Given the description of an element on the screen output the (x, y) to click on. 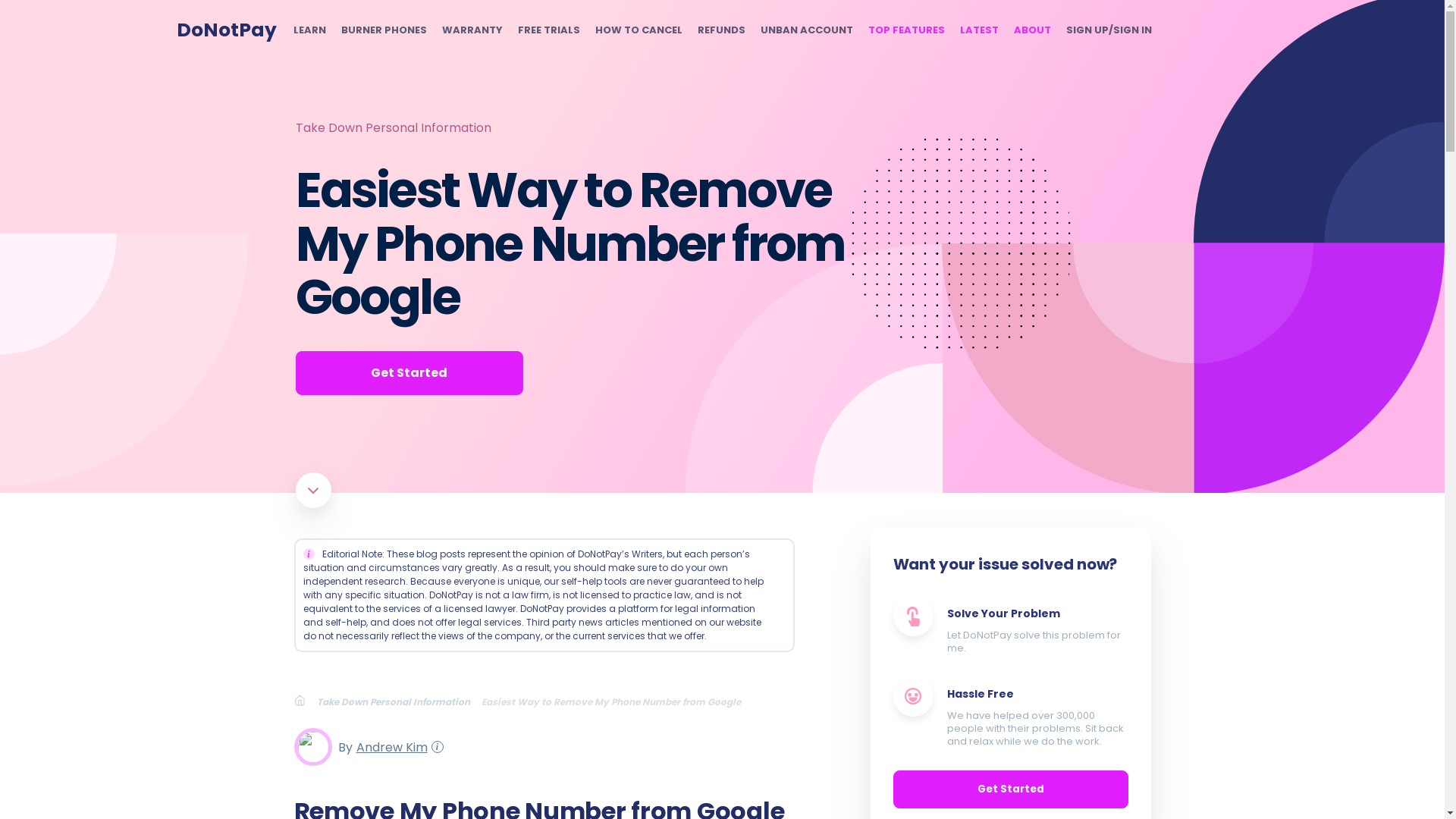
TOP FEATURES (905, 29)
ABOUT (1031, 29)
FREE TRIALS (547, 29)
HOW TO CANCEL (637, 29)
Take Down Personal Information (393, 127)
BURNER PHONES (383, 29)
UNBAN ACCOUNT (805, 29)
LEARN (308, 29)
WARRANTY (471, 29)
REFUNDS (721, 29)
